Given the description of an element on the screen output the (x, y) to click on. 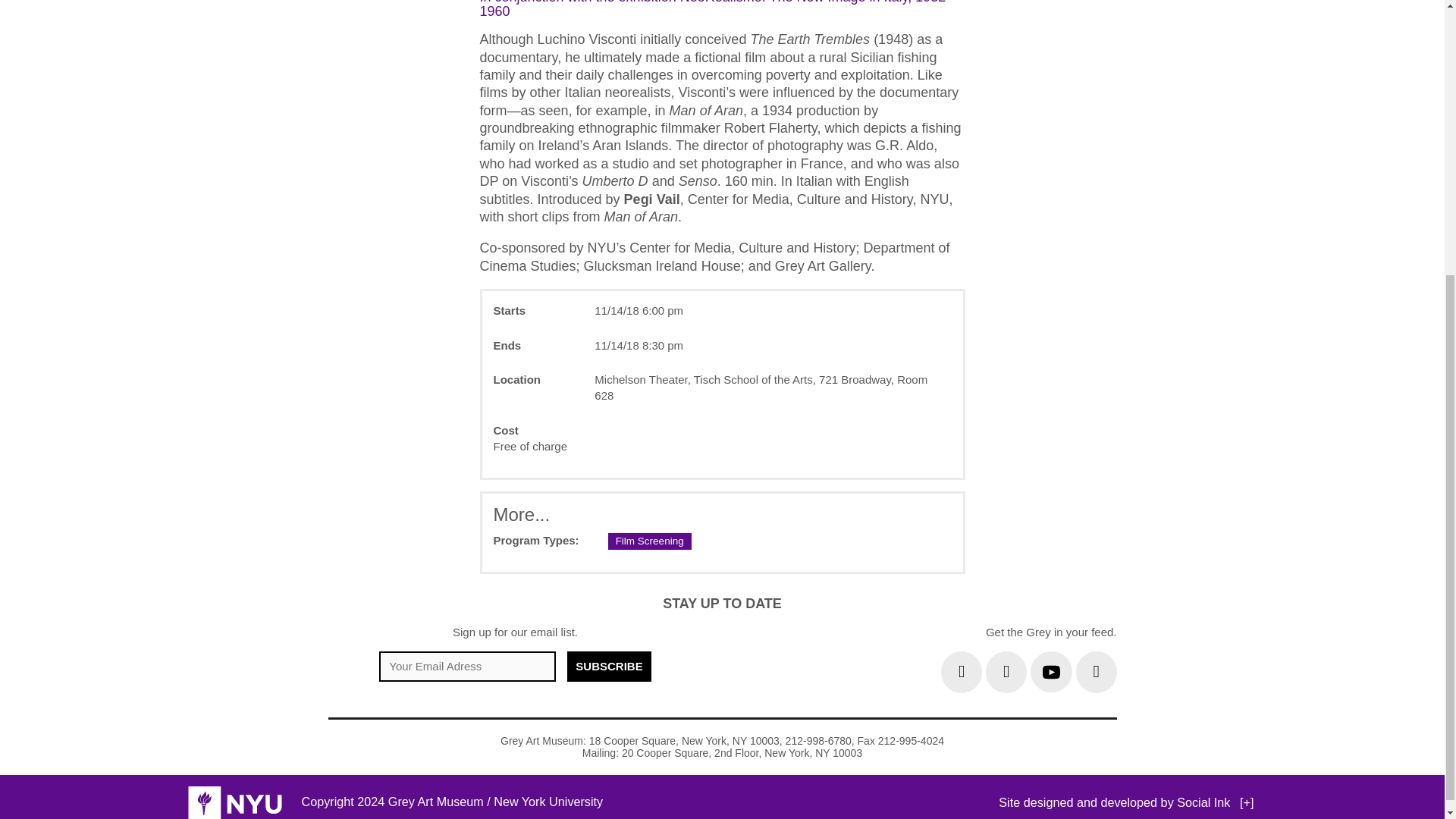
See Grey Art Museum on Youtube (1050, 671)
See Grey Art Museum on Instagram (960, 671)
Subscribe (608, 666)
See Grey Art Museum on Email (1095, 671)
Part of the Social Ink Educational Portfolio (1246, 802)
See Grey Art Museum on Facebook (1005, 671)
See other items in Film Screening Program Types (649, 541)
